Given the description of an element on the screen output the (x, y) to click on. 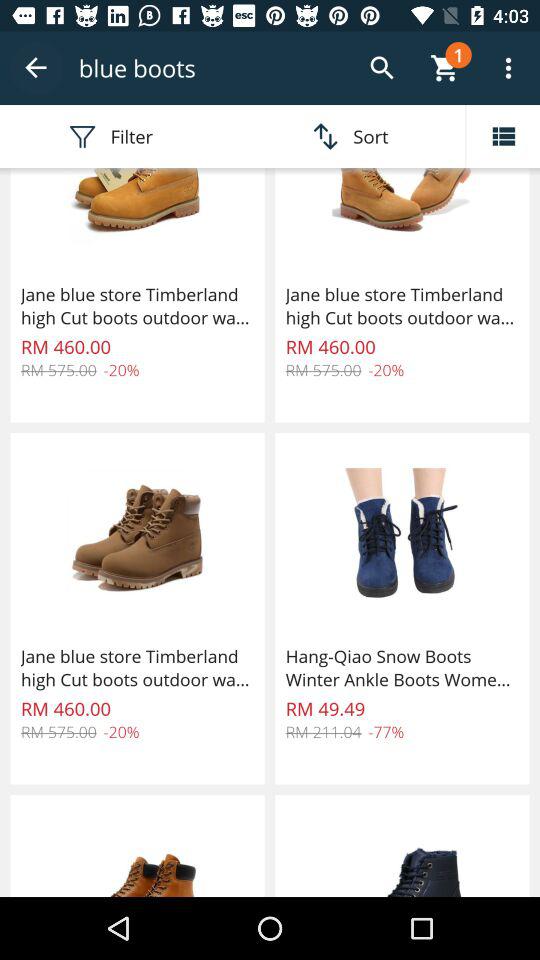
go back (36, 68)
